Given the description of an element on the screen output the (x, y) to click on. 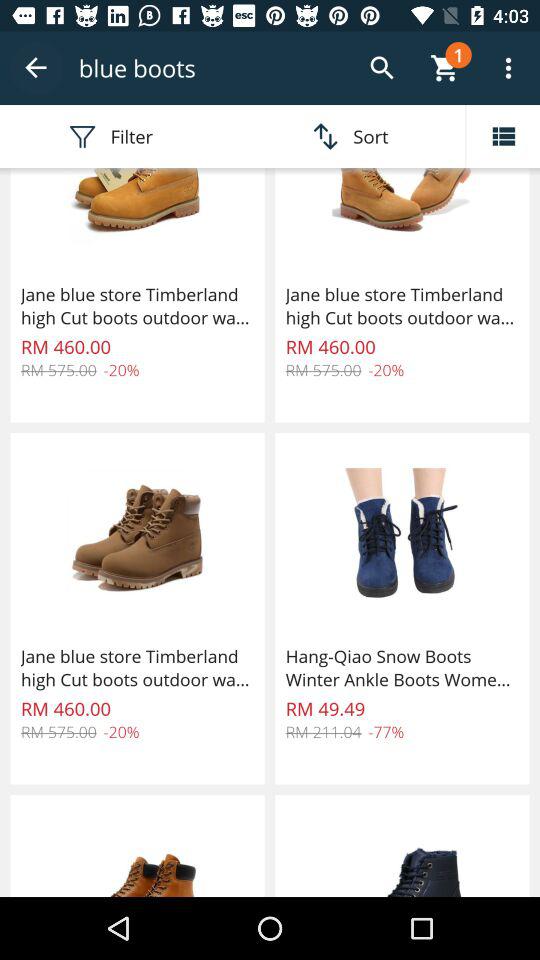
go back (36, 68)
